Given the description of an element on the screen output the (x, y) to click on. 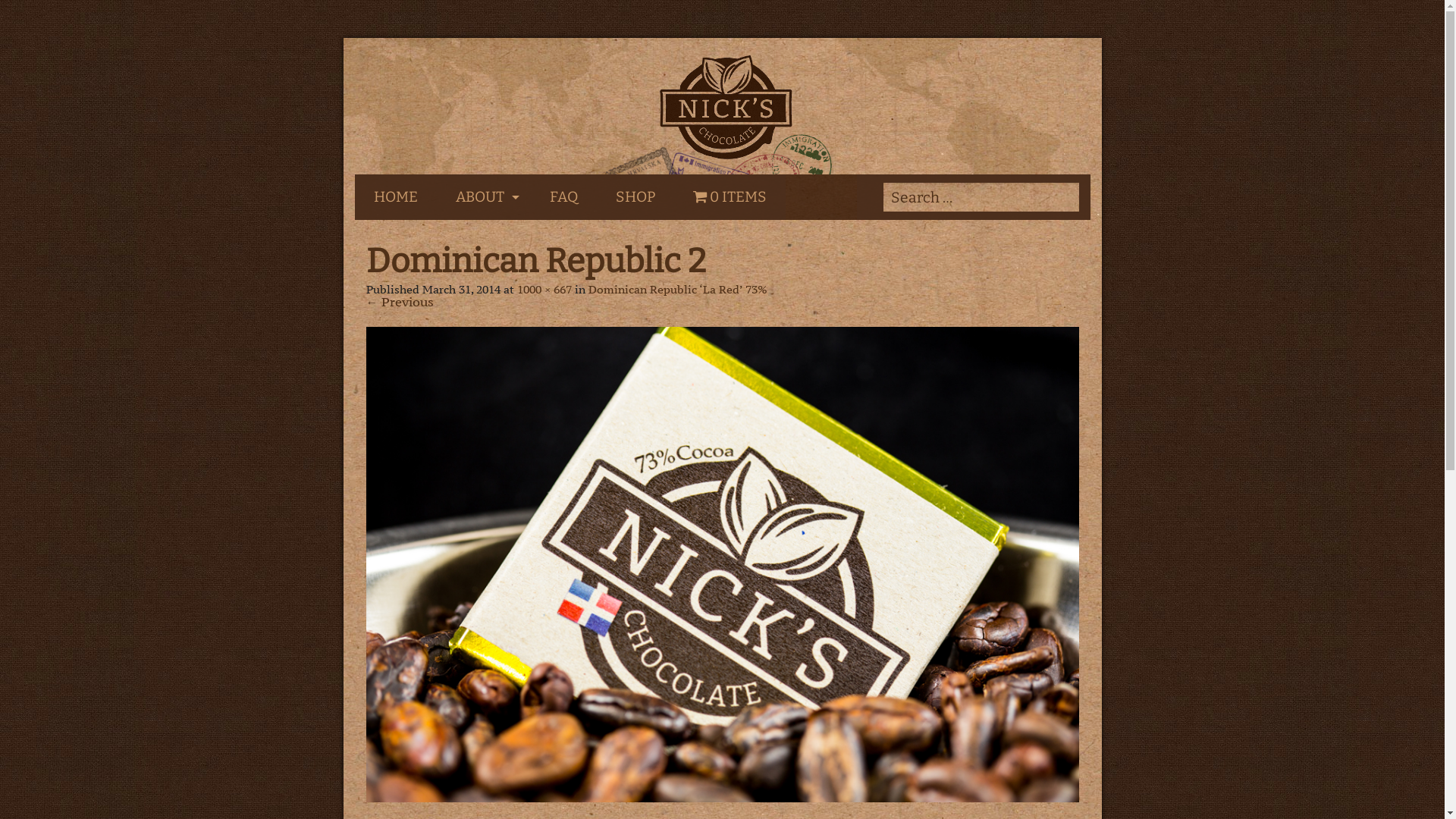
HOME Element type: text (395, 196)
ABOUT Element type: text (483, 196)
Dominican Republic 2 Element type: hover (721, 564)
SHOP Element type: text (634, 196)
FAQ Element type: text (563, 196)
0 ITEMS Element type: text (729, 196)
